Given the description of an element on the screen output the (x, y) to click on. 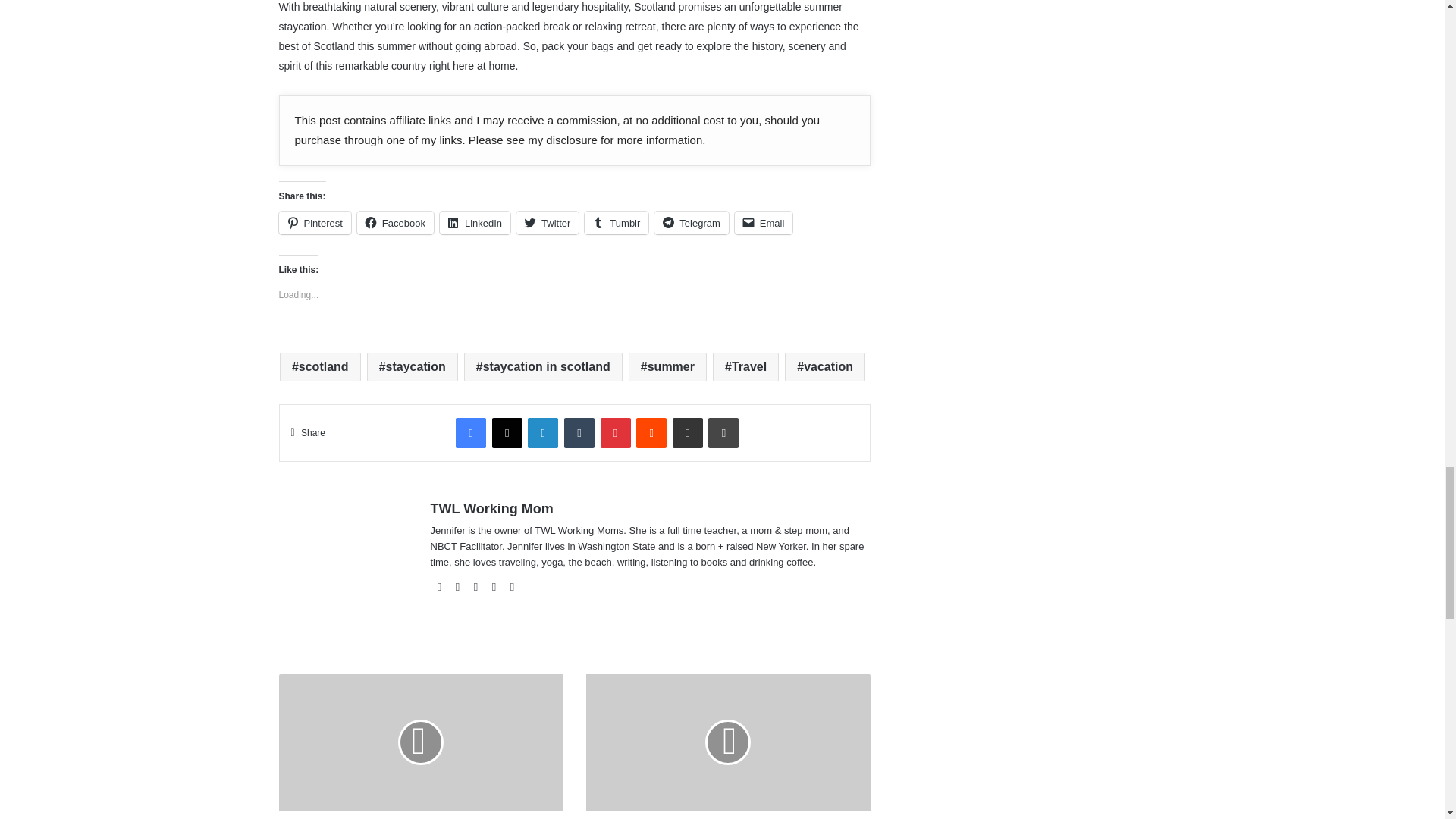
Telegram (690, 222)
scotland (320, 366)
staycation (412, 366)
Click to share on Tumblr (616, 222)
Twitter (547, 222)
Click to share on Twitter (547, 222)
summer (667, 366)
staycation in scotland (543, 366)
Facebook (394, 222)
Click to share on Pinterest (314, 222)
Click to share on Facebook (394, 222)
Pinterest (314, 222)
Click to share on LinkedIn (475, 222)
Email (764, 222)
Tumblr (616, 222)
